Given the description of an element on the screen output the (x, y) to click on. 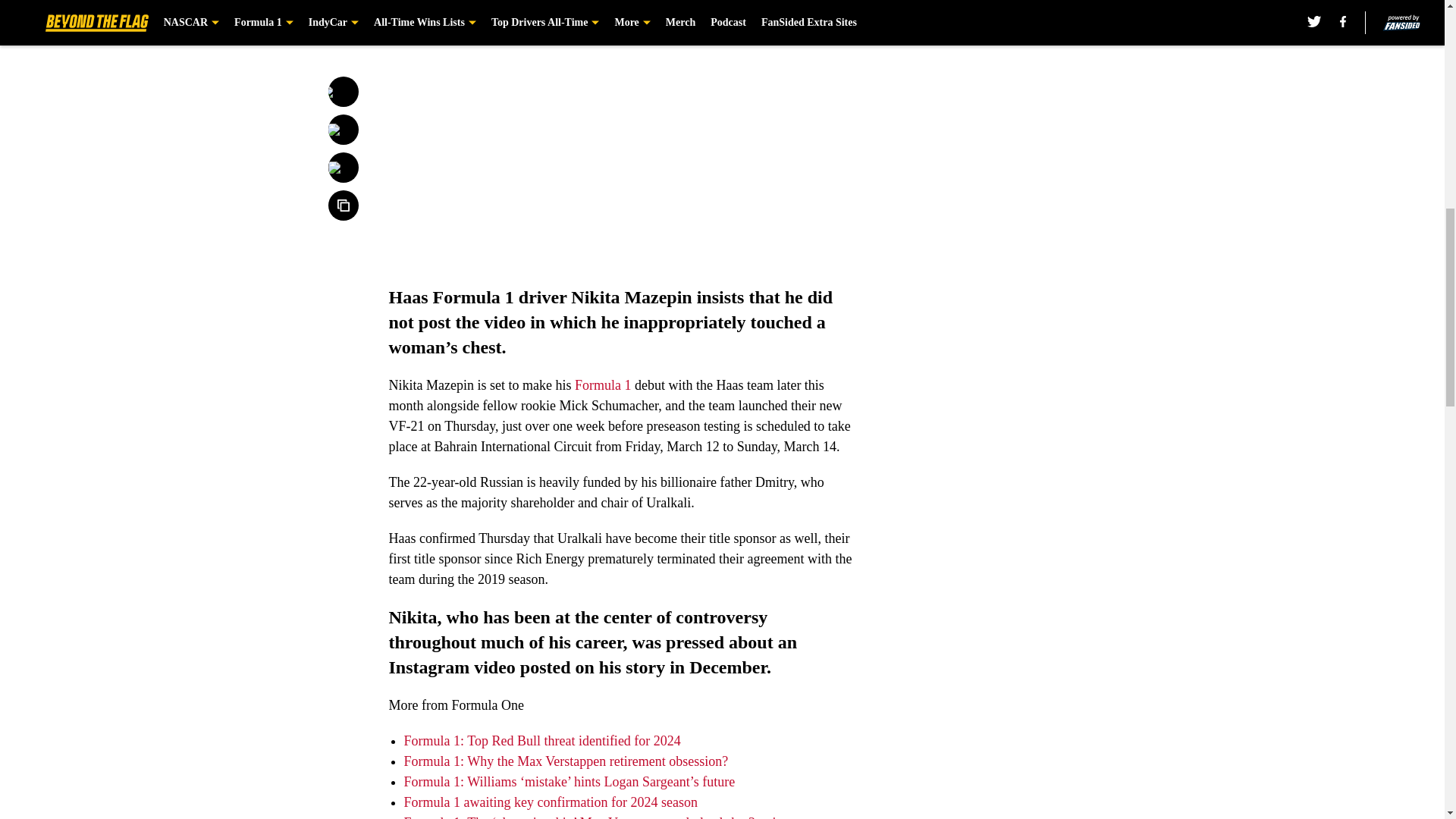
Formula 1: Top Red Bull threat identified for 2024 (541, 740)
Formula 1: Why the Max Verstappen retirement obsession? (565, 761)
Formula 1 awaiting key confirmation for 2024 season (550, 801)
Formula 1 (603, 385)
